Given the description of an element on the screen output the (x, y) to click on. 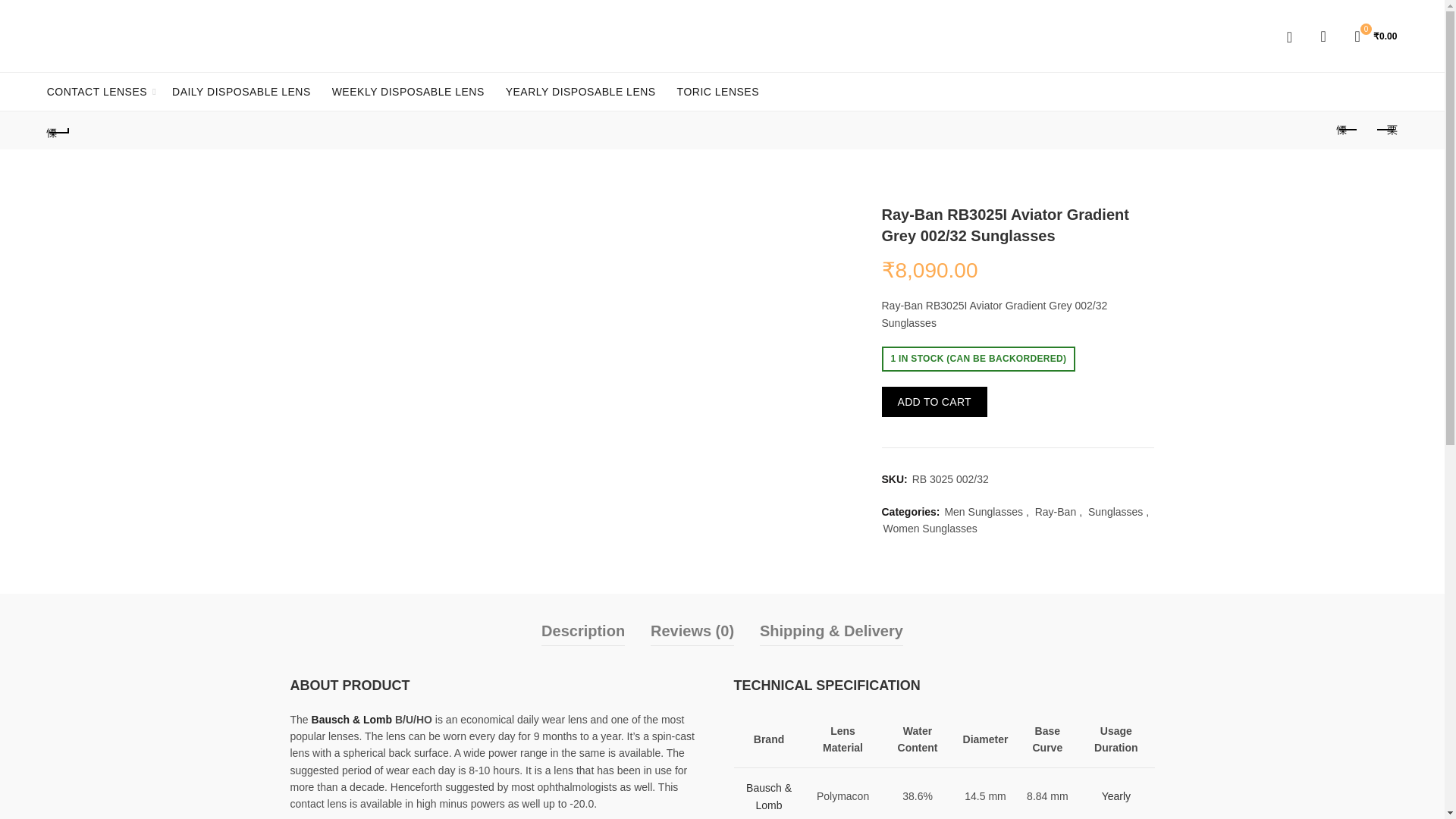
WEEKLY DISPOSABLE LENS (408, 91)
Men Sunglasses (983, 512)
ADD TO CART (933, 401)
TORIC LENSES (717, 91)
Previous product (1347, 130)
Back (59, 130)
YEARLY DISPOSABLE LENS (580, 91)
Search (1299, 77)
DAILY DISPOSABLE LENS (240, 91)
CONTACT LENSES (97, 91)
Next product (1386, 130)
